Given the description of an element on the screen output the (x, y) to click on. 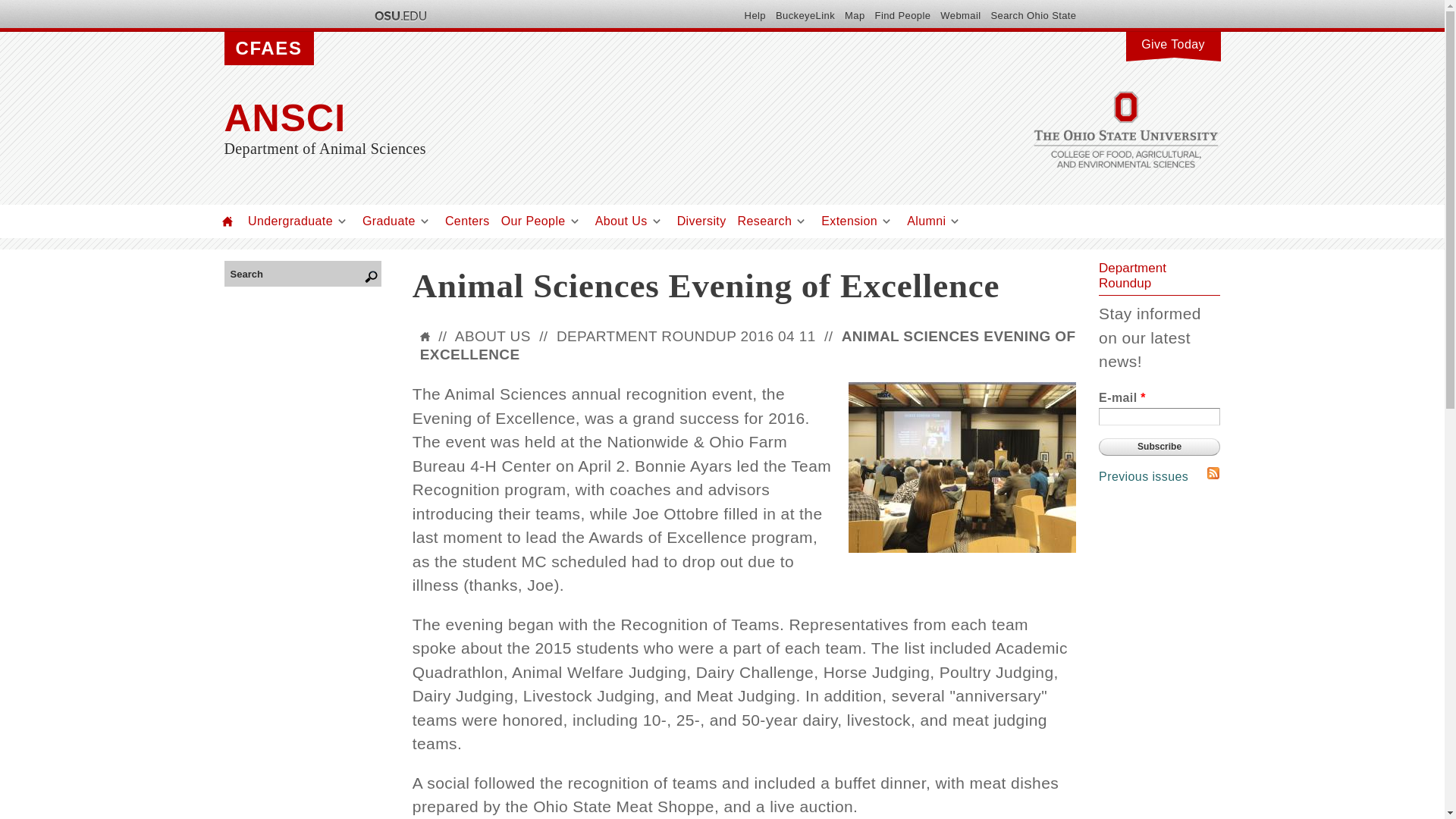
Subscribe (1159, 446)
Find People (903, 15)
Search (298, 273)
Help (754, 15)
CFAES (269, 48)
Webmail (959, 15)
Search Ohio State (1032, 15)
Home (226, 221)
Map (854, 15)
Give Today (1172, 42)
